Given the description of an element on the screen output the (x, y) to click on. 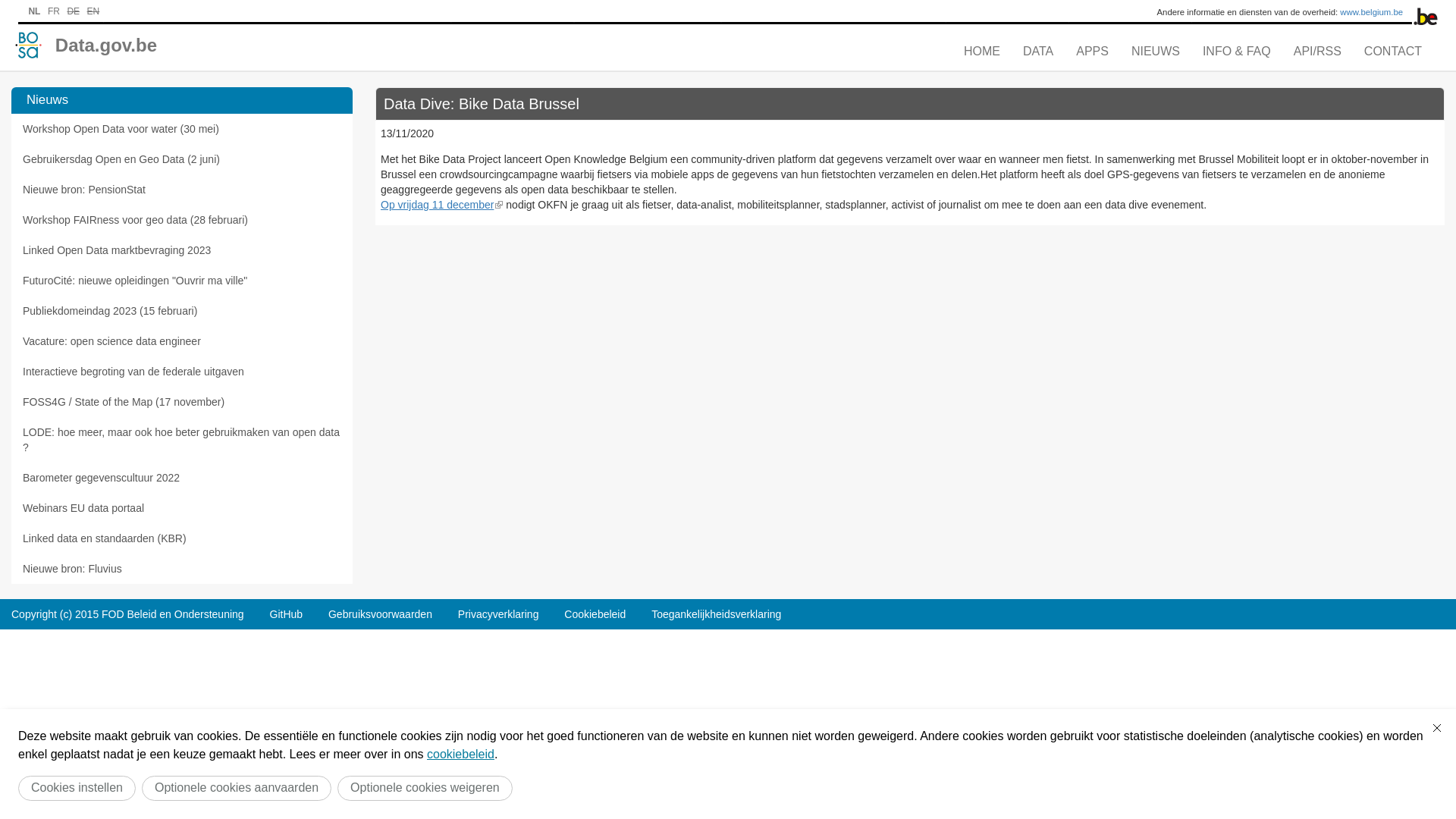
Copyright (c) 2015 FOD Beleid en Ondersteuning Element type: text (127, 614)
Nieuwe bron: PensionStat Element type: text (181, 189)
Webinars EU data portaal Element type: text (181, 507)
Publiekdomeindag 2023 (15 februari) Element type: text (181, 310)
Cookiebeleid Element type: text (594, 614)
Optionele cookies aanvaarden Element type: text (236, 787)
Barometer gegevenscultuur 2022 Element type: text (181, 477)
FOSS4G / State of the Map (17 november) Element type: text (181, 401)
Gebruiksvoorwaarden Element type: text (379, 614)
GitHub
(This hyperlink opens a new window) Element type: text (285, 614)
Privacyverklaring Element type: text (498, 614)
Linked data en standaarden (KBR) Element type: text (181, 538)
Return to the Data.gov.be home page Element type: hover (28, 45)
Workshop FAIRness voor geo data (28 februari) Element type: text (181, 219)
DATA Element type: text (1037, 51)
INFO & FAQ Element type: text (1236, 51)
www.belgium.be Element type: text (1370, 11)
APPS Element type: text (1092, 51)
NIEUWS Element type: text (1155, 51)
Data.gov.be Element type: text (105, 43)
HOME Element type: text (981, 51)
Overslaan en naar de inhoud gaan Element type: text (81, 0)
Vacature: open science data engineer Element type: text (181, 341)
Interactieve begroting van de federale uitgaven Element type: text (181, 371)
Workshop Open Data voor water (30 mei) Element type: text (181, 128)
Sluiten Element type: hover (1436, 727)
Cookies instellen Element type: text (76, 787)
FR Element type: text (53, 10)
Gebruikersdag Open en Geo Data (2 juni) Element type: text (181, 159)
API/RSS Element type: text (1317, 51)
Optionele cookies weigeren Element type: text (424, 787)
Nieuwe bron: Fluvius Element type: text (181, 568)
cookiebeleid Element type: text (460, 753)
Toegankelijkheidsverklaring Element type: text (716, 614)
Op vrijdag 11 december
(externe link) Element type: text (441, 204)
CONTACT Element type: text (1392, 51)
Linked Open Data marktbevraging 2023 Element type: text (181, 250)
NL Element type: text (33, 10)
